Given the description of an element on the screen output the (x, y) to click on. 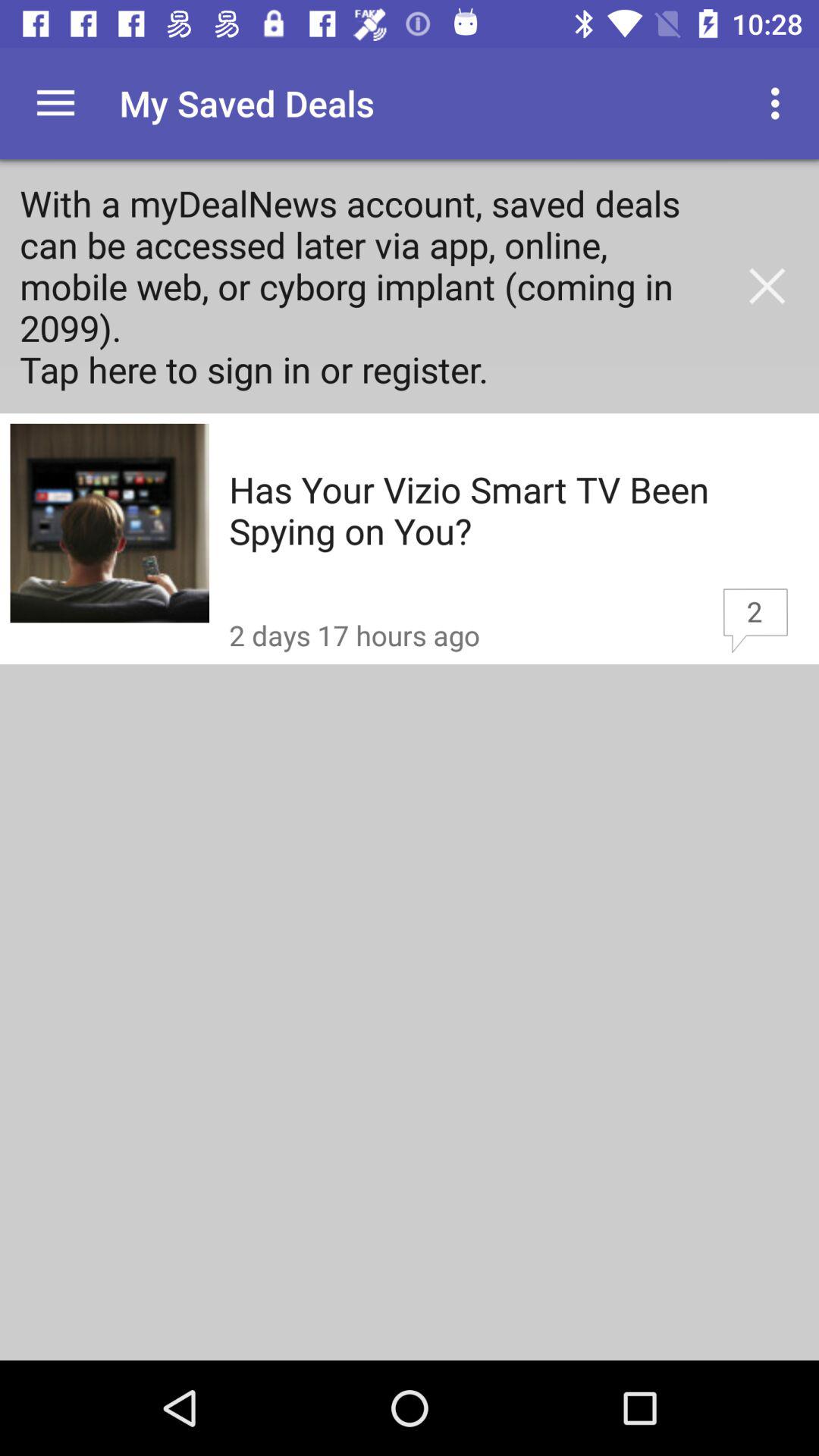
turn on item to the right of the with a mydealnews item (767, 285)
